Given the description of an element on the screen output the (x, y) to click on. 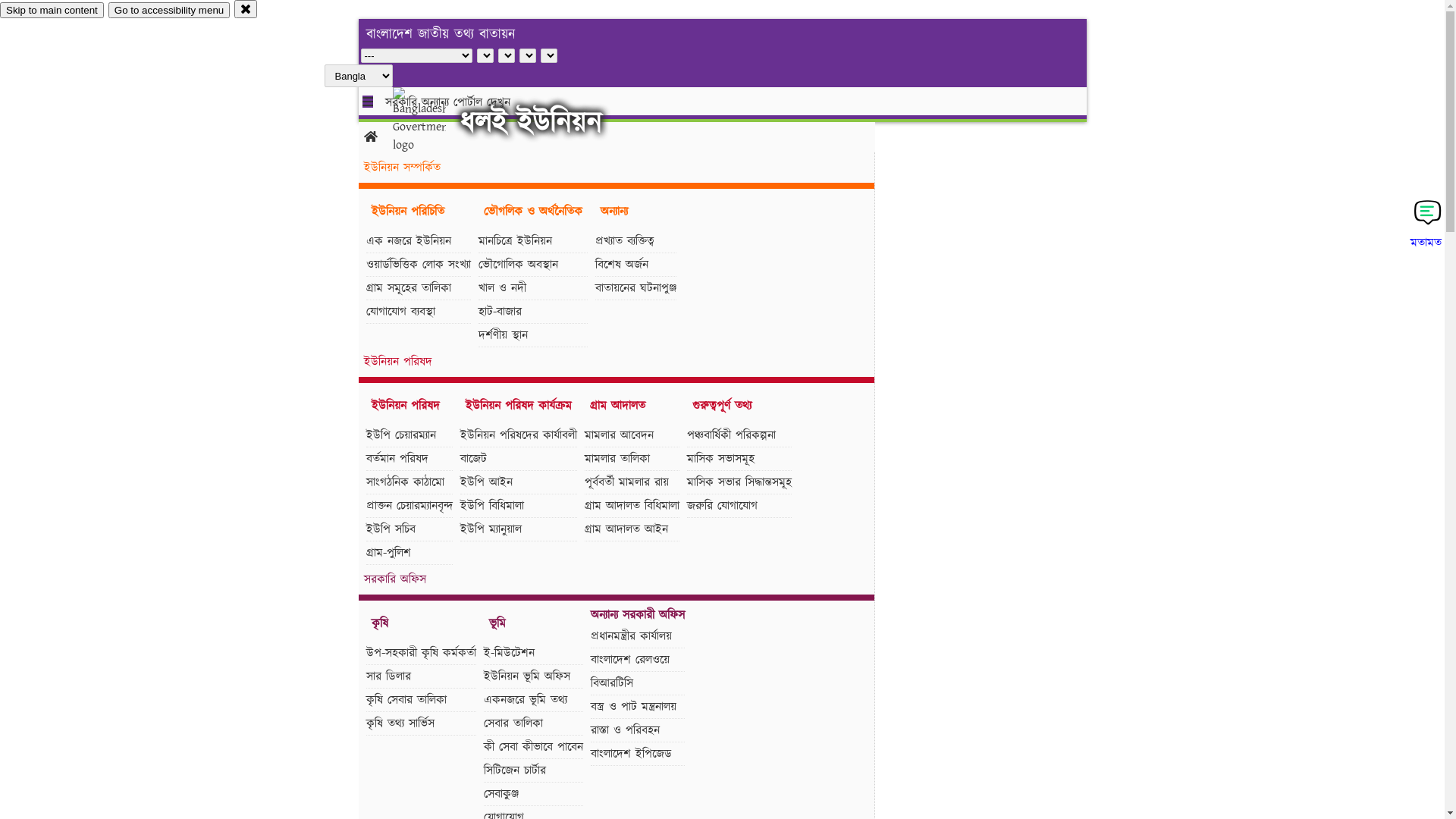
close Element type: hover (245, 9)

                
             Element type: hover (431, 120)
Go to accessibility menu Element type: text (168, 10)
Skip to main content Element type: text (51, 10)
